Given the description of an element on the screen output the (x, y) to click on. 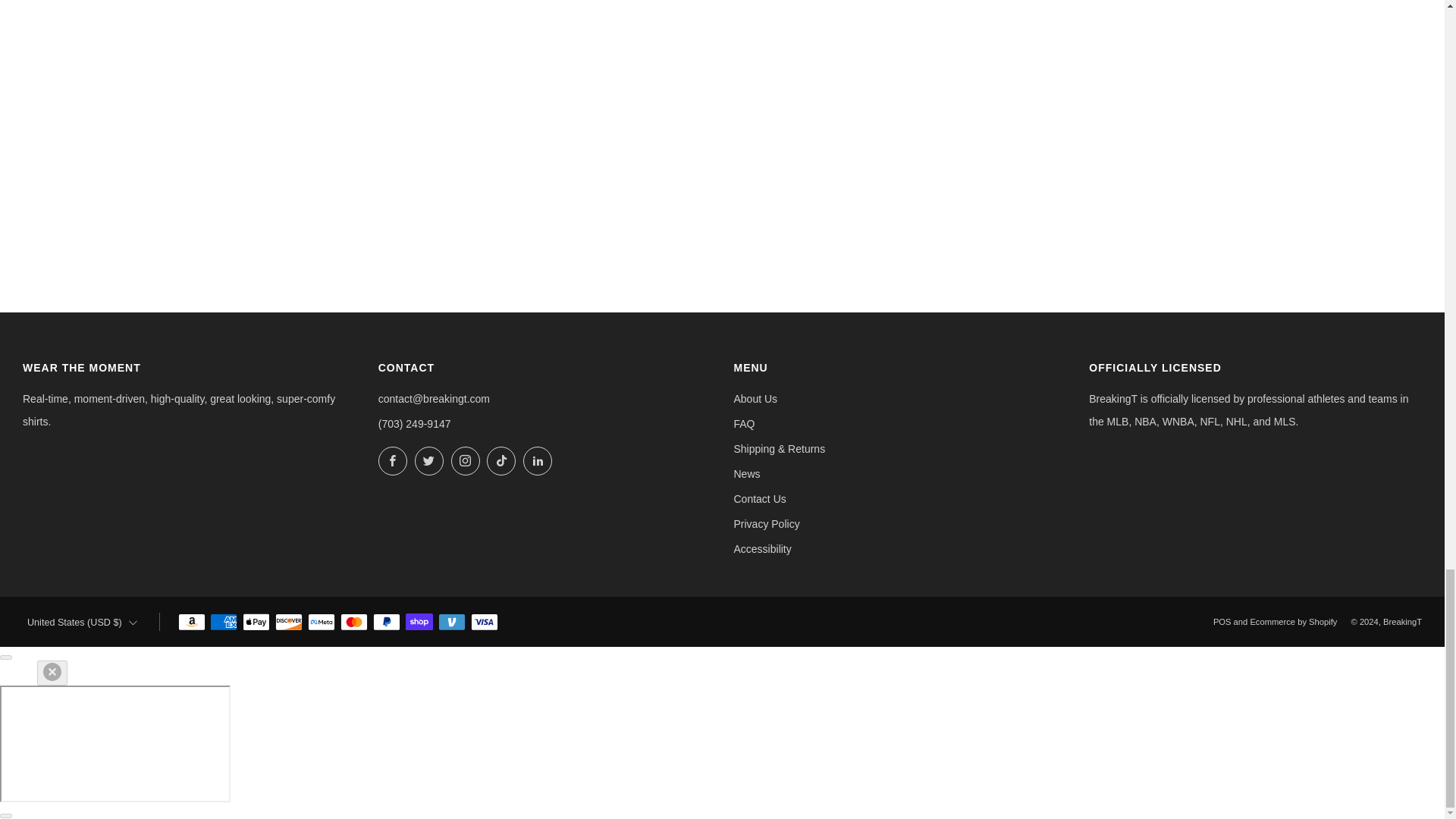
Venmo (451, 622)
Meta Pay (320, 622)
Apple Pay (256, 622)
Discover (288, 622)
Shop Pay (419, 622)
Amazon (191, 622)
Visa (483, 622)
PayPal (386, 622)
Mastercard (354, 622)
American Express (223, 622)
